Given the description of an element on the screen output the (x, y) to click on. 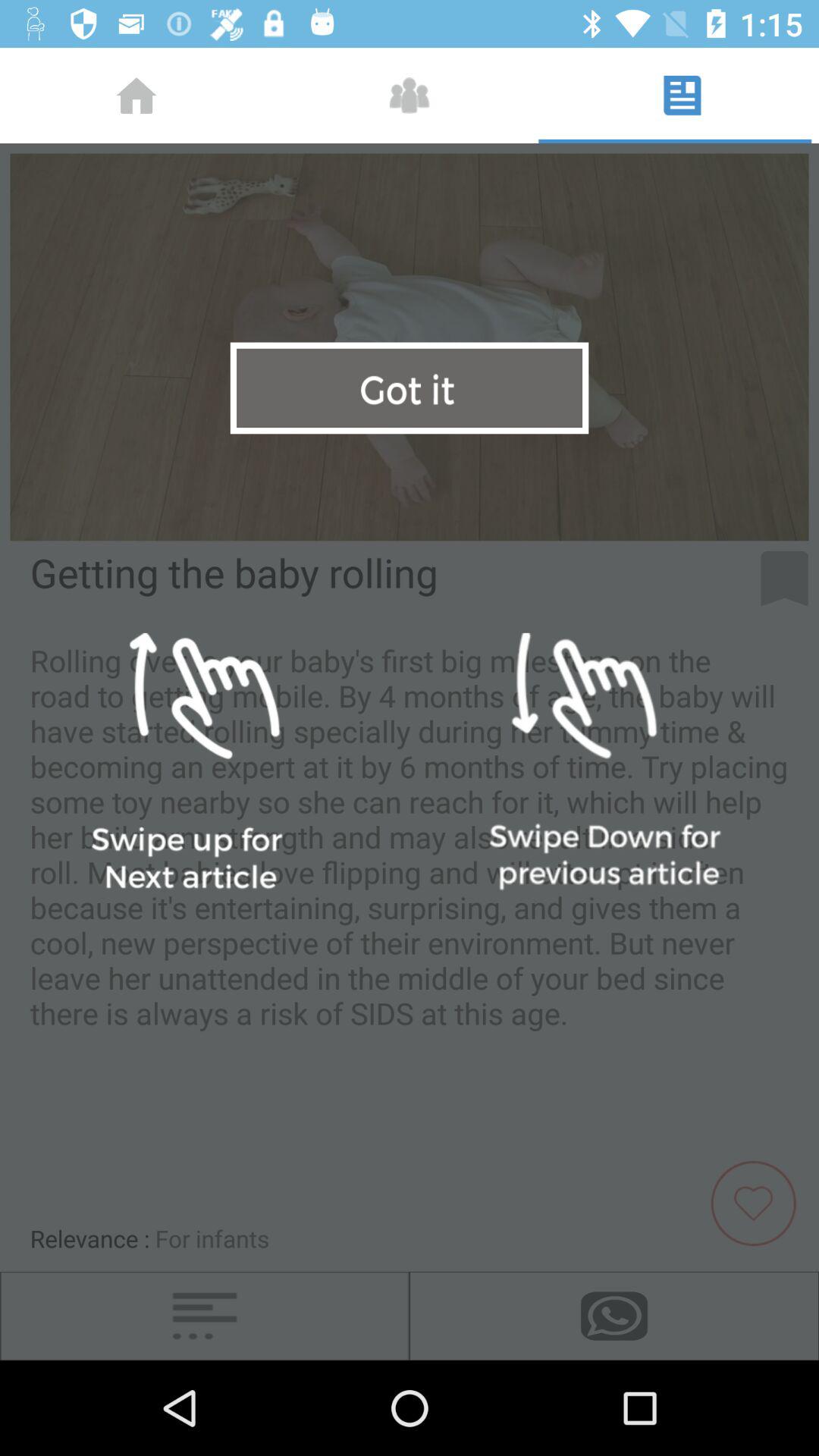
bookmark this article (784, 578)
